Given the description of an element on the screen output the (x, y) to click on. 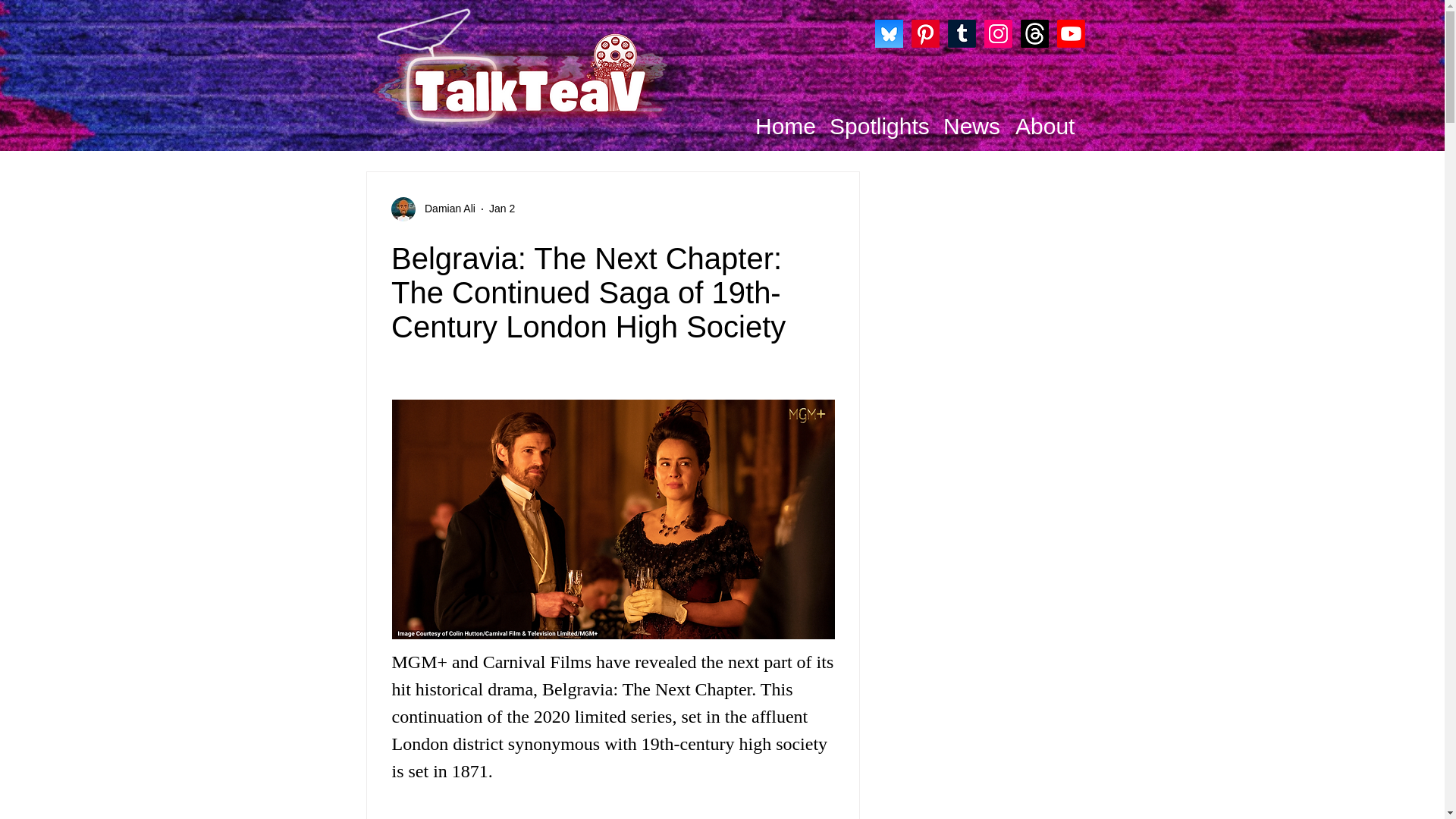
Damian Ali (445, 208)
News (967, 126)
Spotlights (874, 126)
Home (781, 126)
Damian Ali (433, 209)
TalkTeaV Logo (509, 66)
Jan 2 (502, 208)
About (1041, 126)
